Given the description of an element on the screen output the (x, y) to click on. 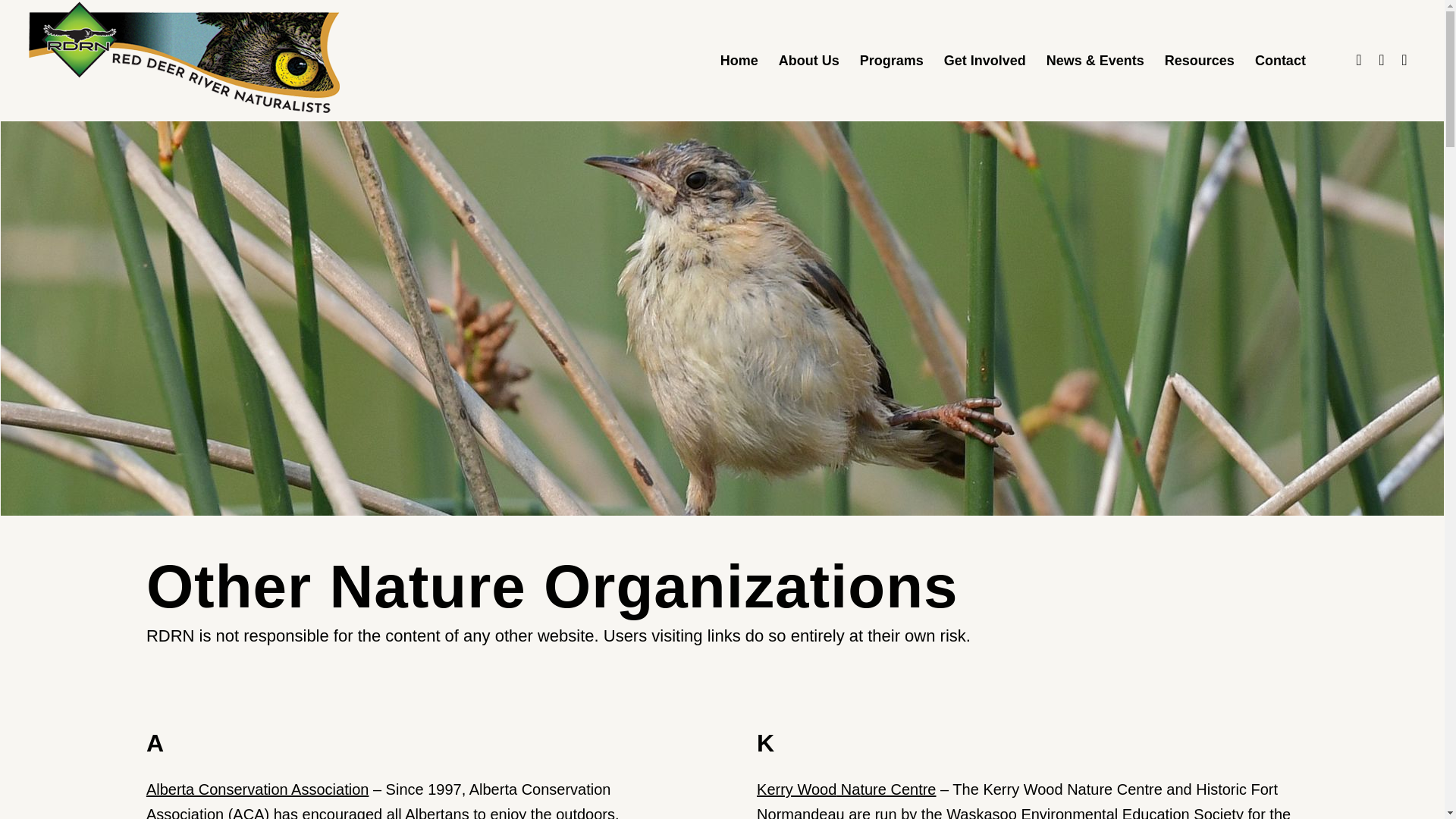
Facebook (1359, 59)
RDRN-logo (188, 60)
X (1381, 59)
Instagram (1404, 59)
RDRN-logo (188, 56)
